Given the description of an element on the screen output the (x, y) to click on. 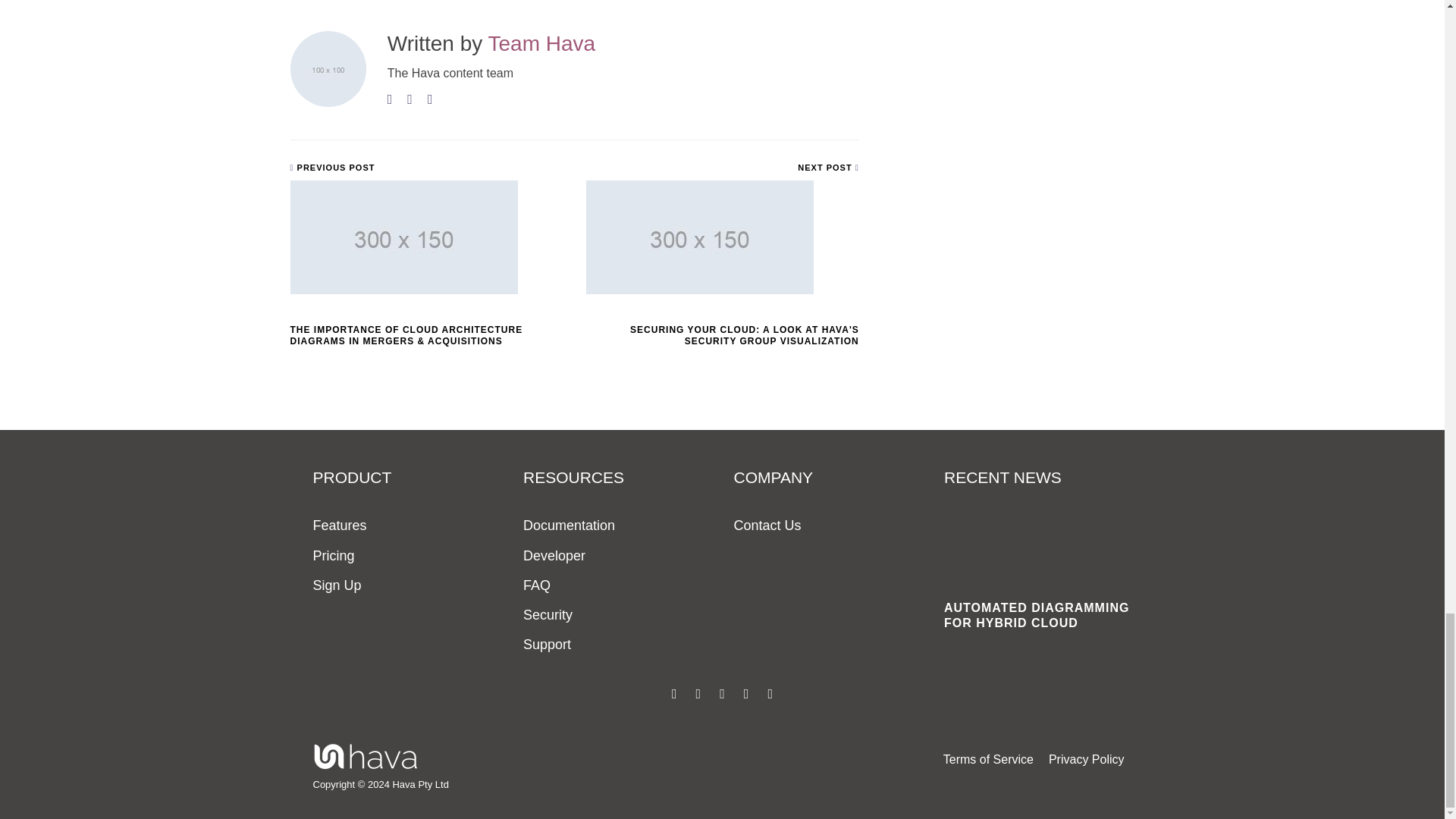
Sign Up (337, 585)
Pricing (333, 556)
NEXT POST (828, 166)
Documentation (568, 525)
PREVIOUS POST (331, 166)
FAQ (536, 585)
Hava Logo (365, 756)
Security (547, 615)
Developer (553, 556)
Team Hava (541, 43)
Features (339, 525)
